Given the description of an element on the screen output the (x, y) to click on. 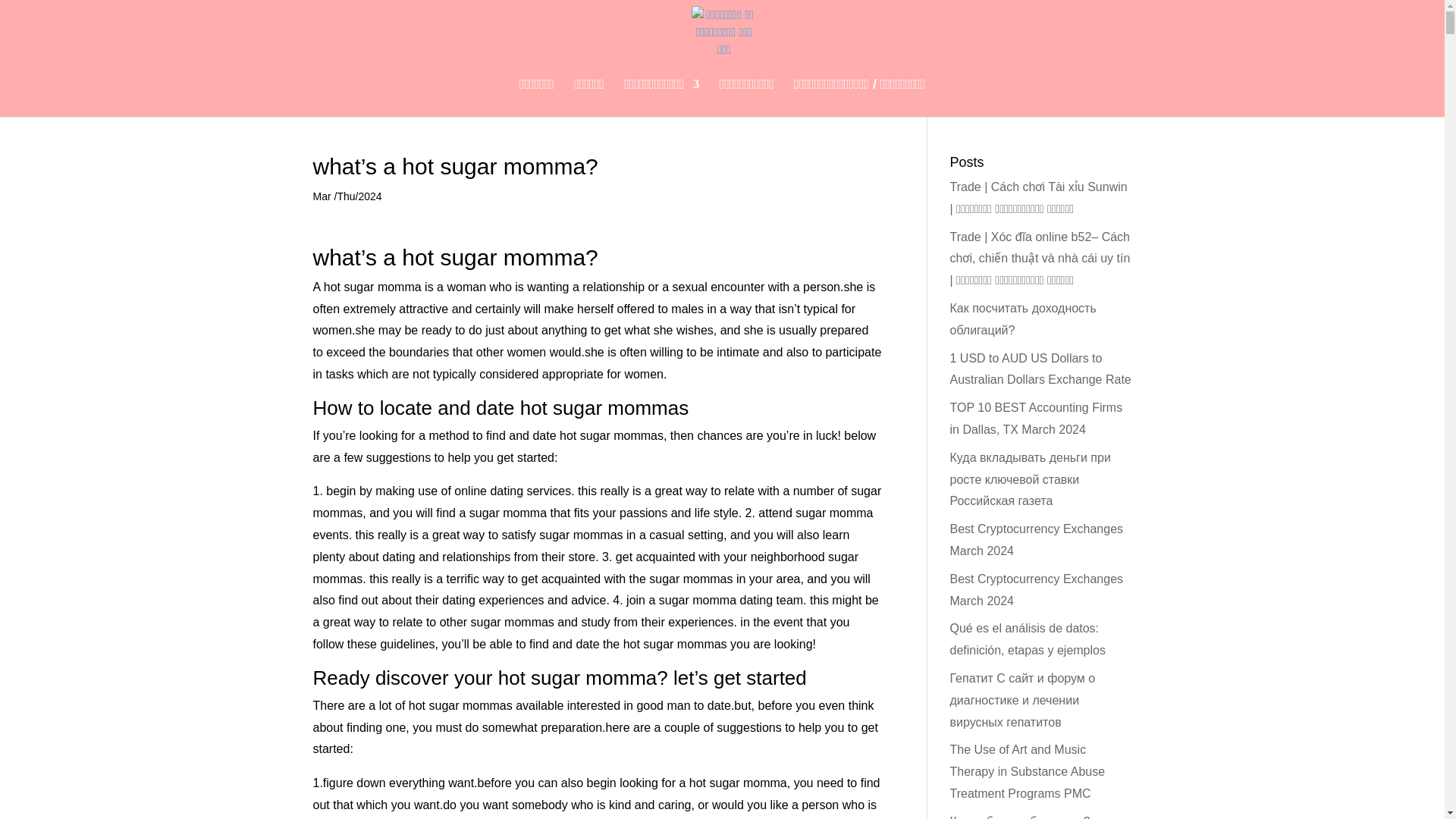
Best Cryptocurrency Exchanges March 2024 (1035, 539)
TOP 10 BEST Accounting Firms in Dallas, TX March 2024 (1035, 418)
Best Cryptocurrency Exchanges March 2024 (1035, 589)
1 USD to AUD US Dollars to Australian Dollars Exchange Rate (1040, 369)
